Given the description of an element on the screen output the (x, y) to click on. 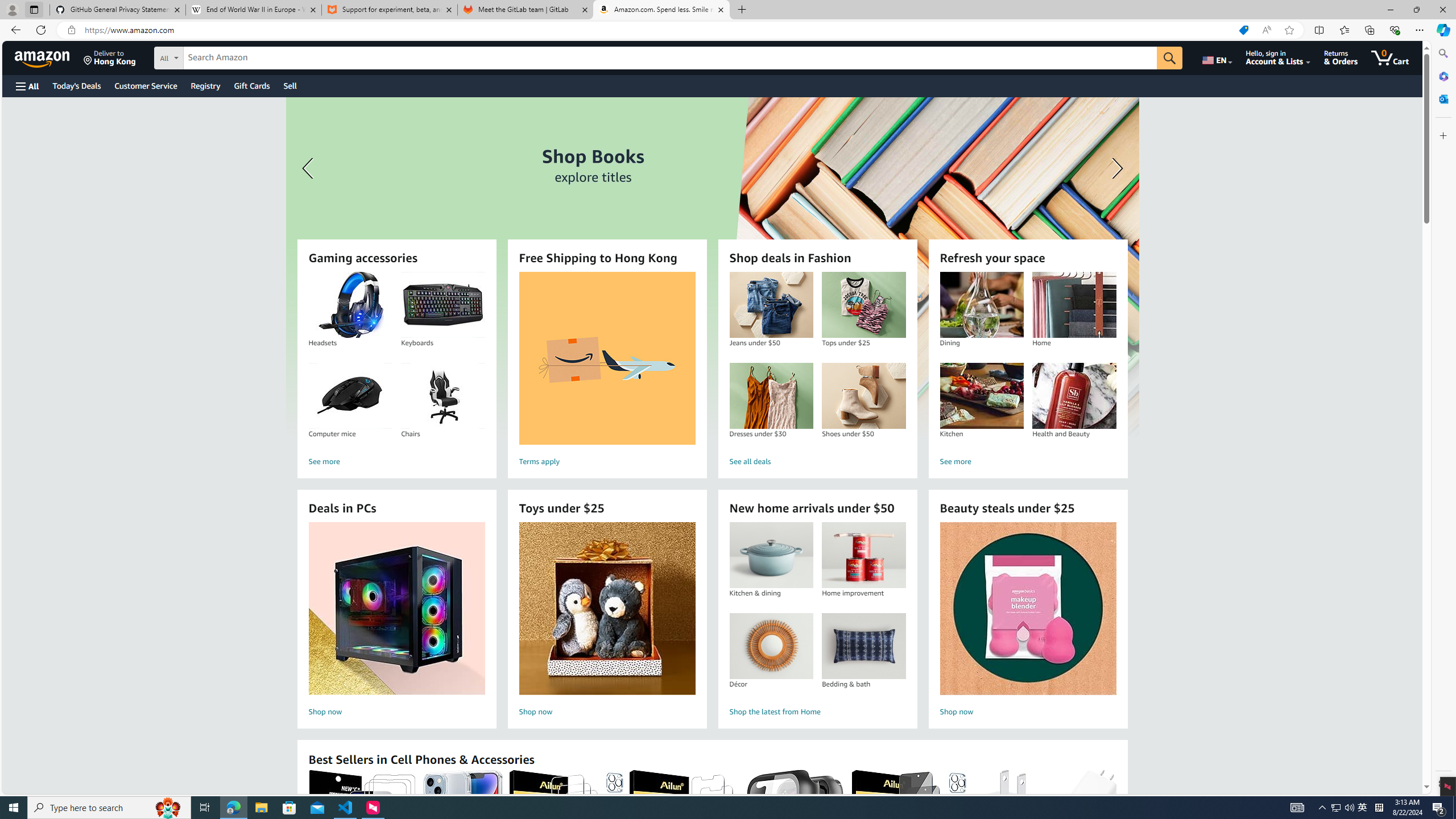
Shop the latest from Home (817, 712)
Next slide (1114, 168)
Computer mice (350, 395)
Dresses under $30 (770, 395)
Headsets (350, 304)
Registry (205, 85)
Shoes under $50 (863, 395)
Hello, sign in Account & Lists (1278, 57)
Customer Service (145, 85)
See all deals (817, 461)
